Given the description of an element on the screen output the (x, y) to click on. 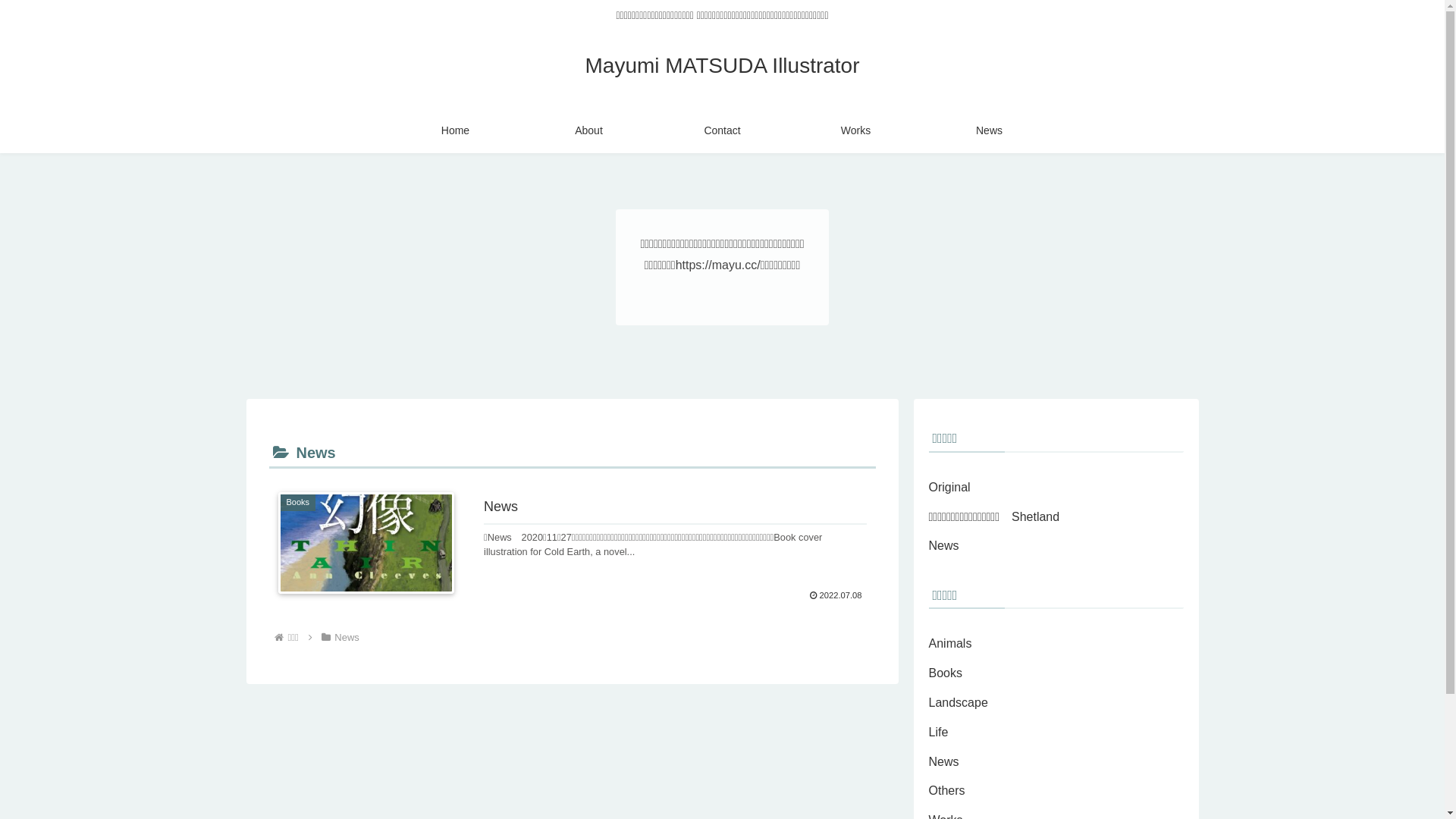
Home Element type: text (454, 130)
Landscape Element type: text (1055, 703)
Books Element type: text (1055, 673)
About Element type: text (588, 130)
Works Element type: text (855, 130)
Others Element type: text (1055, 791)
News Element type: text (1055, 546)
Mayumi MATSUDA Illustrator Element type: text (722, 68)
Original Element type: text (1055, 487)
News Element type: text (346, 637)
Animals Element type: text (1055, 643)
Contact Element type: text (721, 130)
Life Element type: text (1055, 732)
News Element type: text (1055, 762)
News Element type: text (988, 130)
